Given the description of an element on the screen output the (x, y) to click on. 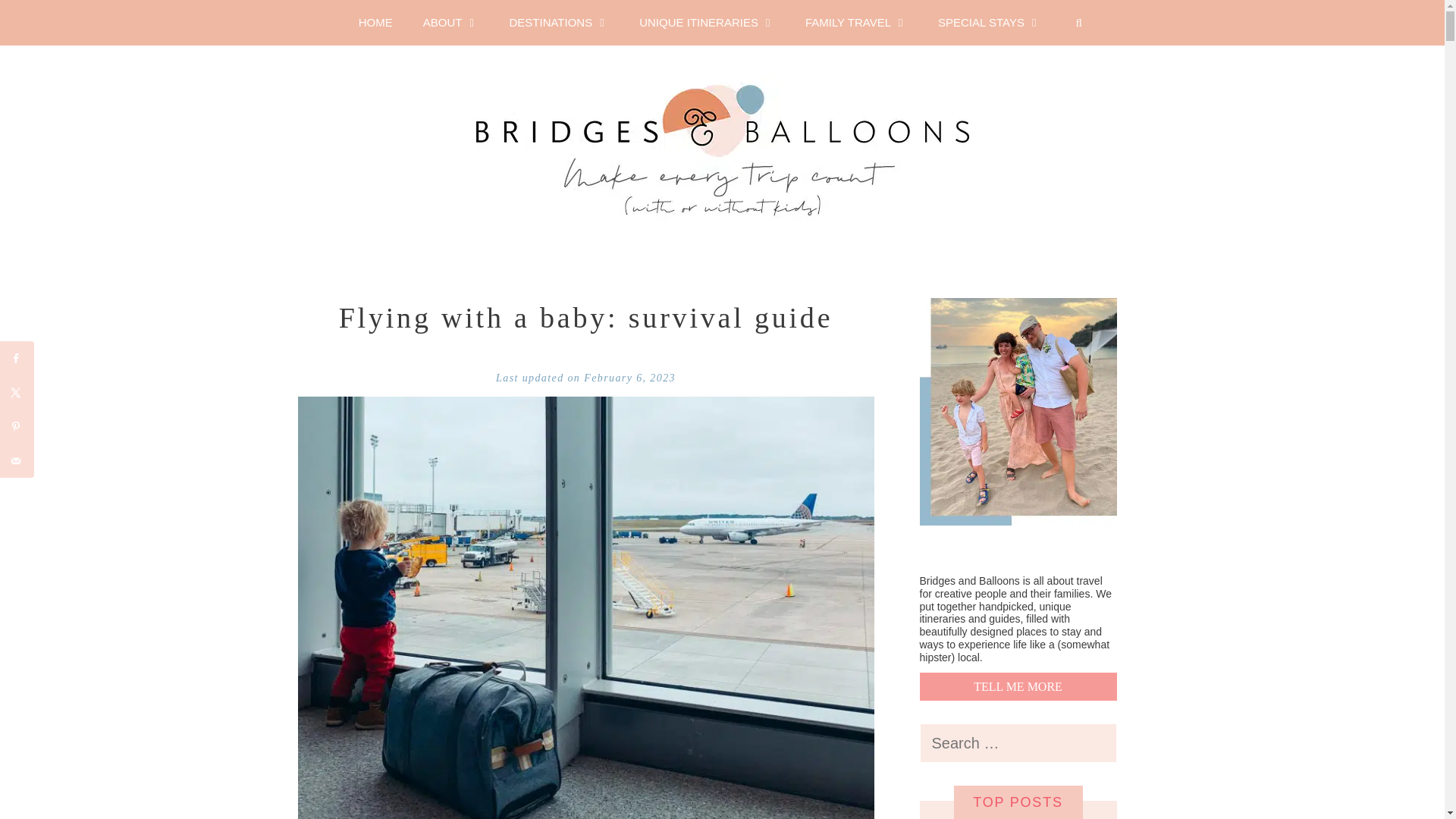
SPECIAL STAYS (990, 22)
HOME (375, 22)
ABOUT (451, 22)
UNIQUE ITINERARIES (707, 22)
FAMILY TRAVEL (856, 22)
DESTINATIONS (558, 22)
